Given the description of an element on the screen output the (x, y) to click on. 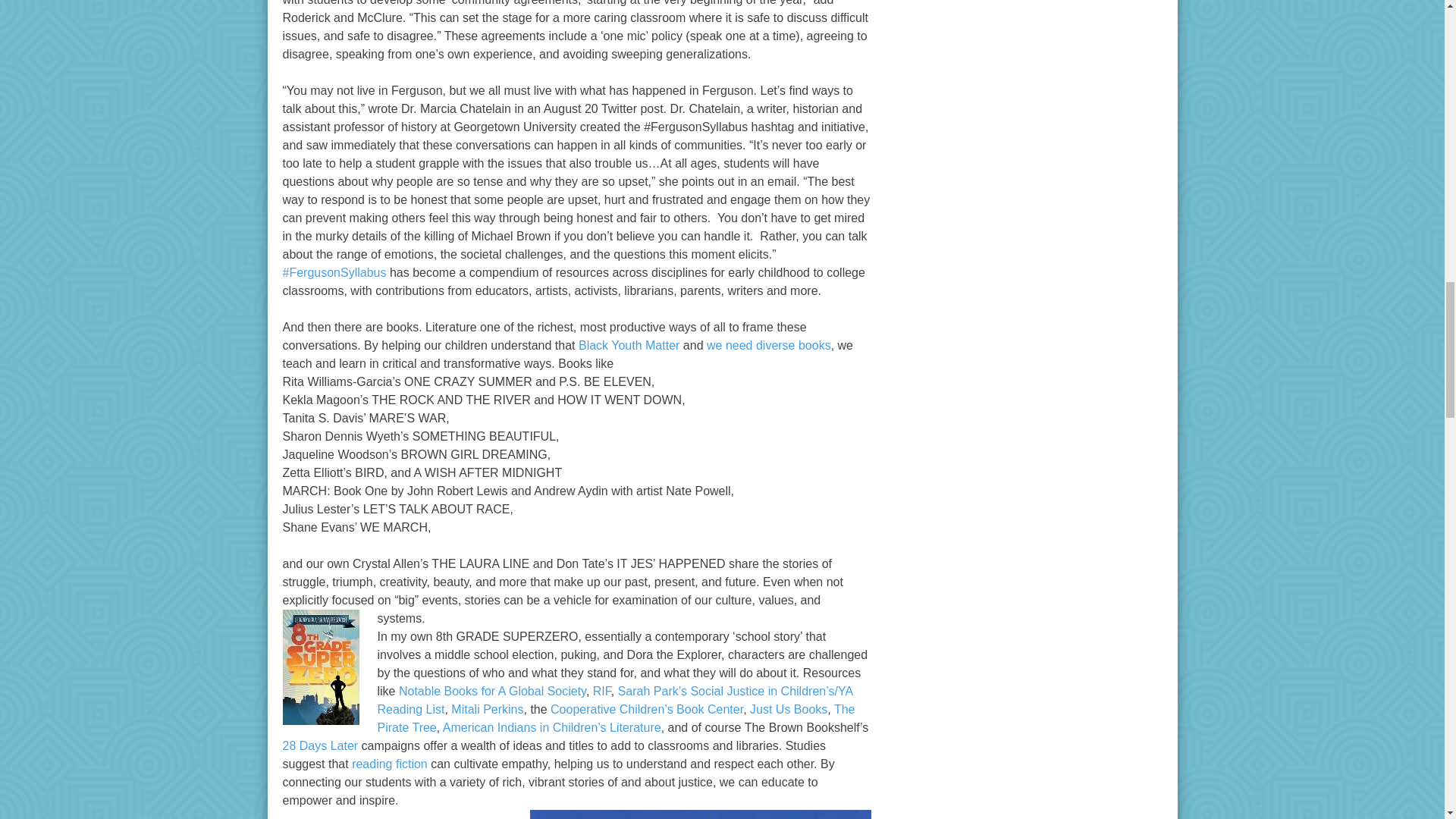
The Pirate Tree (616, 717)
28 Days Later (320, 745)
Mitali Perkins (486, 708)
Black Youth Matter (628, 345)
RIF (601, 690)
we need diverse books (768, 345)
reading fiction (390, 763)
Notable Books for A Global Society (492, 690)
Just Us Books (788, 708)
